Given the description of an element on the screen output the (x, y) to click on. 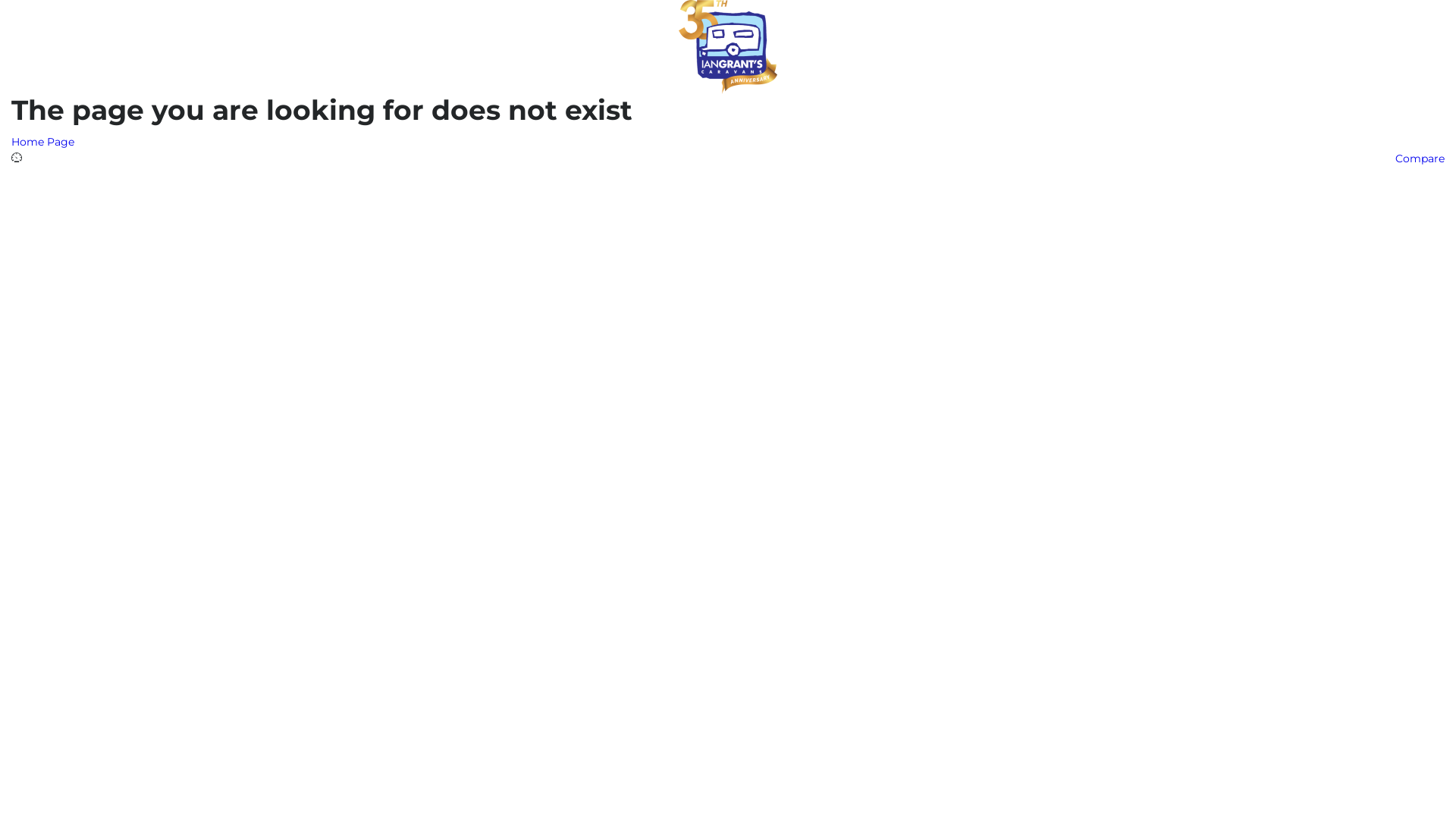
Home Element type: hover (727, 44)
Compare Element type: text (1419, 158)
Home Page Element type: text (42, 141)
